Given the description of an element on the screen output the (x, y) to click on. 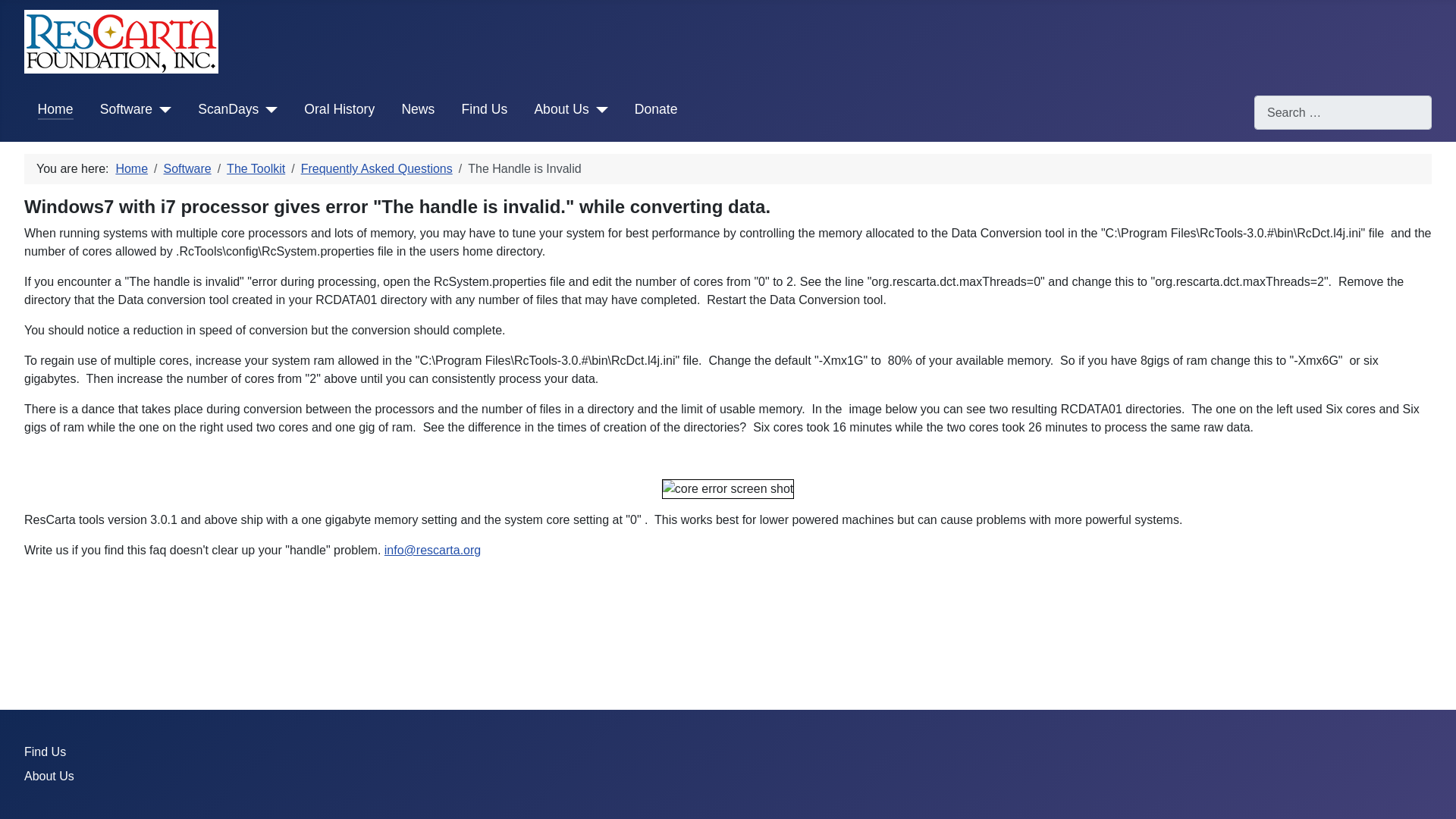
ScanDays (228, 108)
Home (55, 108)
News (417, 108)
Find Us (484, 108)
mail info at rescarta (432, 549)
About Us (561, 108)
Oral History (339, 108)
Software (187, 168)
Home (131, 168)
Donate (656, 108)
